Given the description of an element on the screen output the (x, y) to click on. 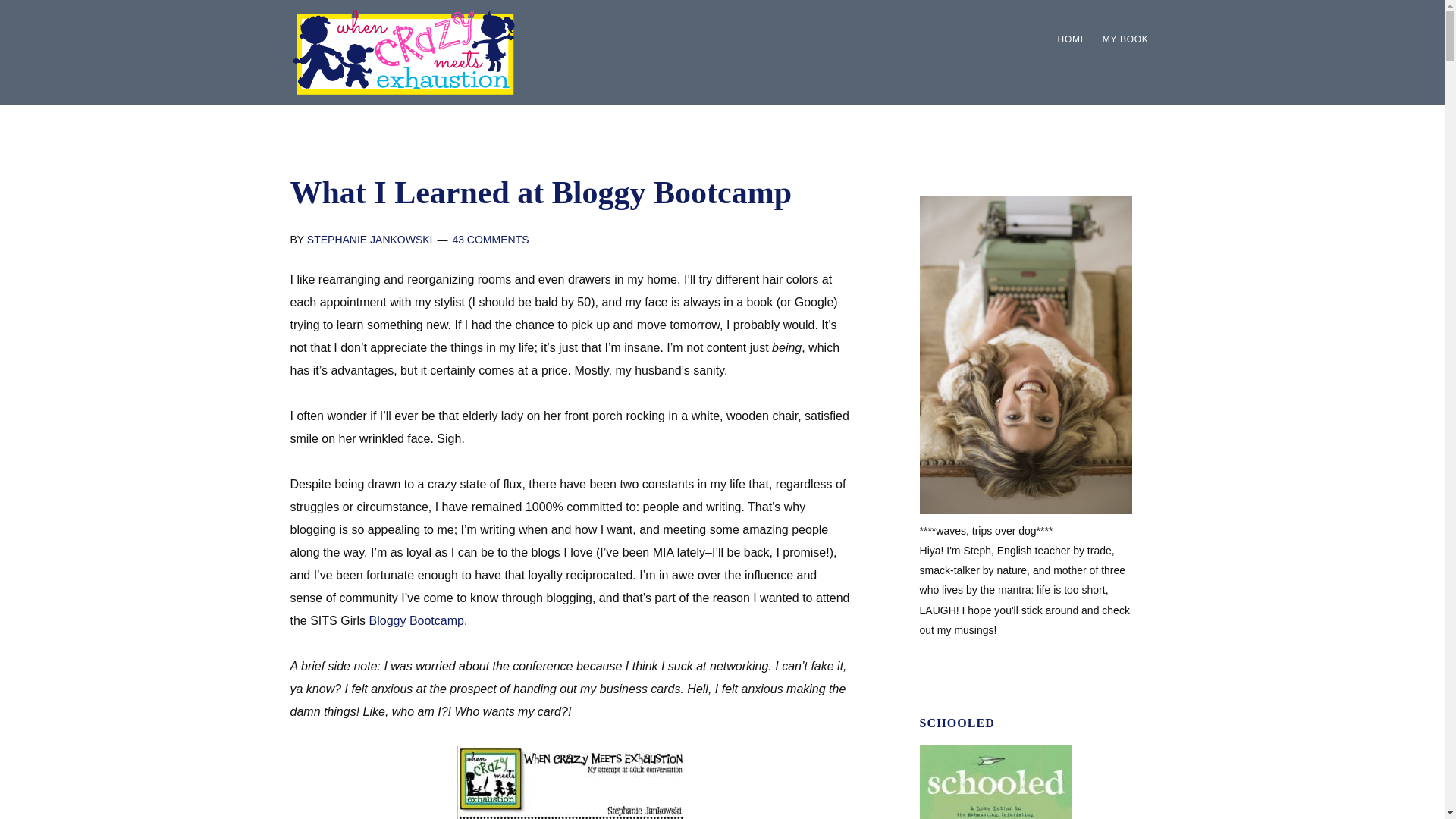
Bloggy Bootcamp (416, 620)
WHEN CRAZY MEETS EXHAUSTION (402, 52)
MY BOOK (1125, 39)
43 COMMENTS (489, 239)
STEPHANIE JANKOWSKI (369, 239)
